Given the description of an element on the screen output the (x, y) to click on. 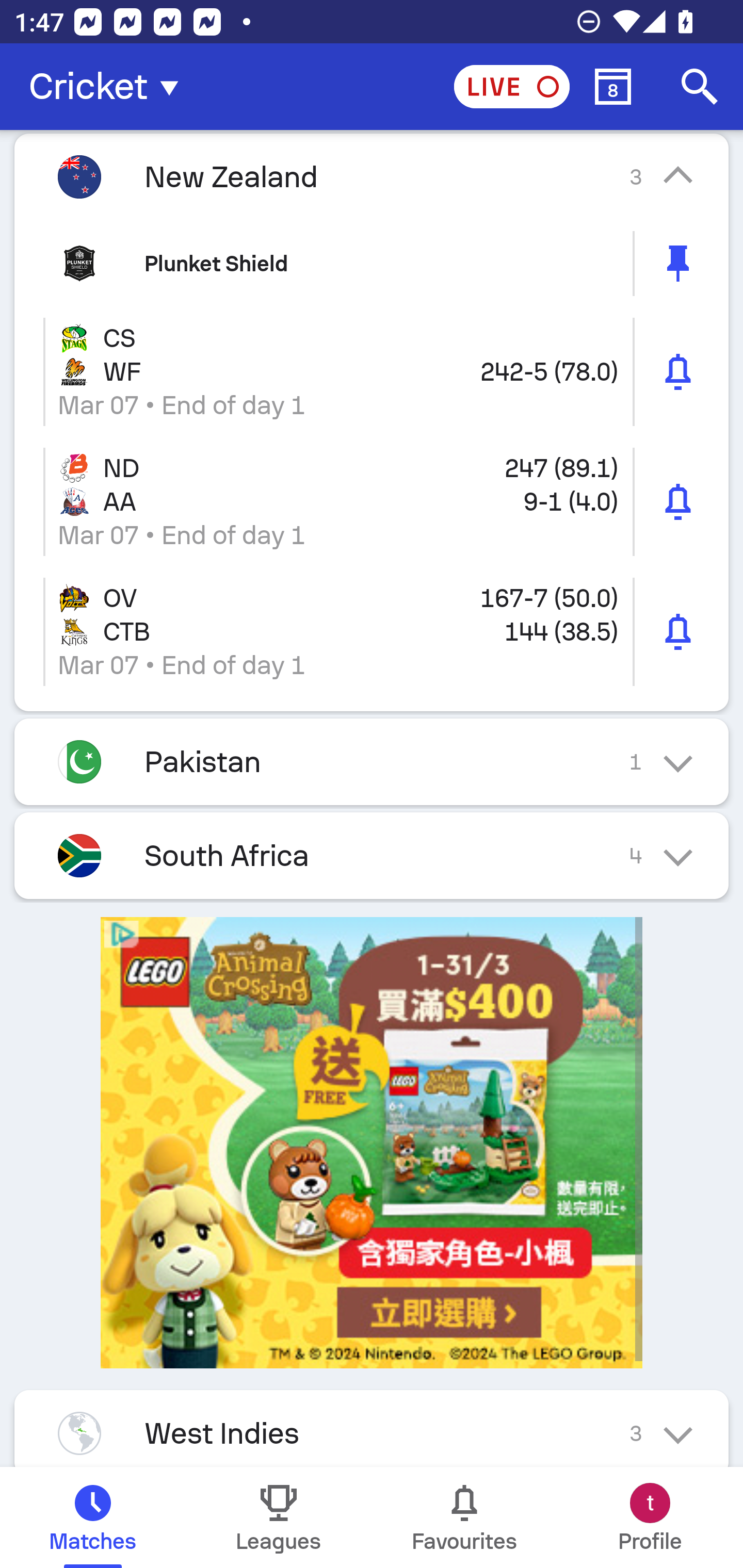
Cricket (109, 86)
Calendar (612, 86)
Search (699, 86)
New Zealand 3 (371, 176)
Plunket Shield (371, 263)
CS WF 242-5 (78.0) Mar 07 • End of day 1 (371, 372)
ND 247 (89.1) AA 9-1 (4.0) Mar 07 • End of day 1 (371, 502)
Pakistan 1 (371, 761)
South Africa 4 (371, 855)
j1n8f1jr_300x250 (371, 1142)
West Indies 3 (371, 1428)
Leagues (278, 1517)
Favourites (464, 1517)
Profile (650, 1517)
